Given the description of an element on the screen output the (x, y) to click on. 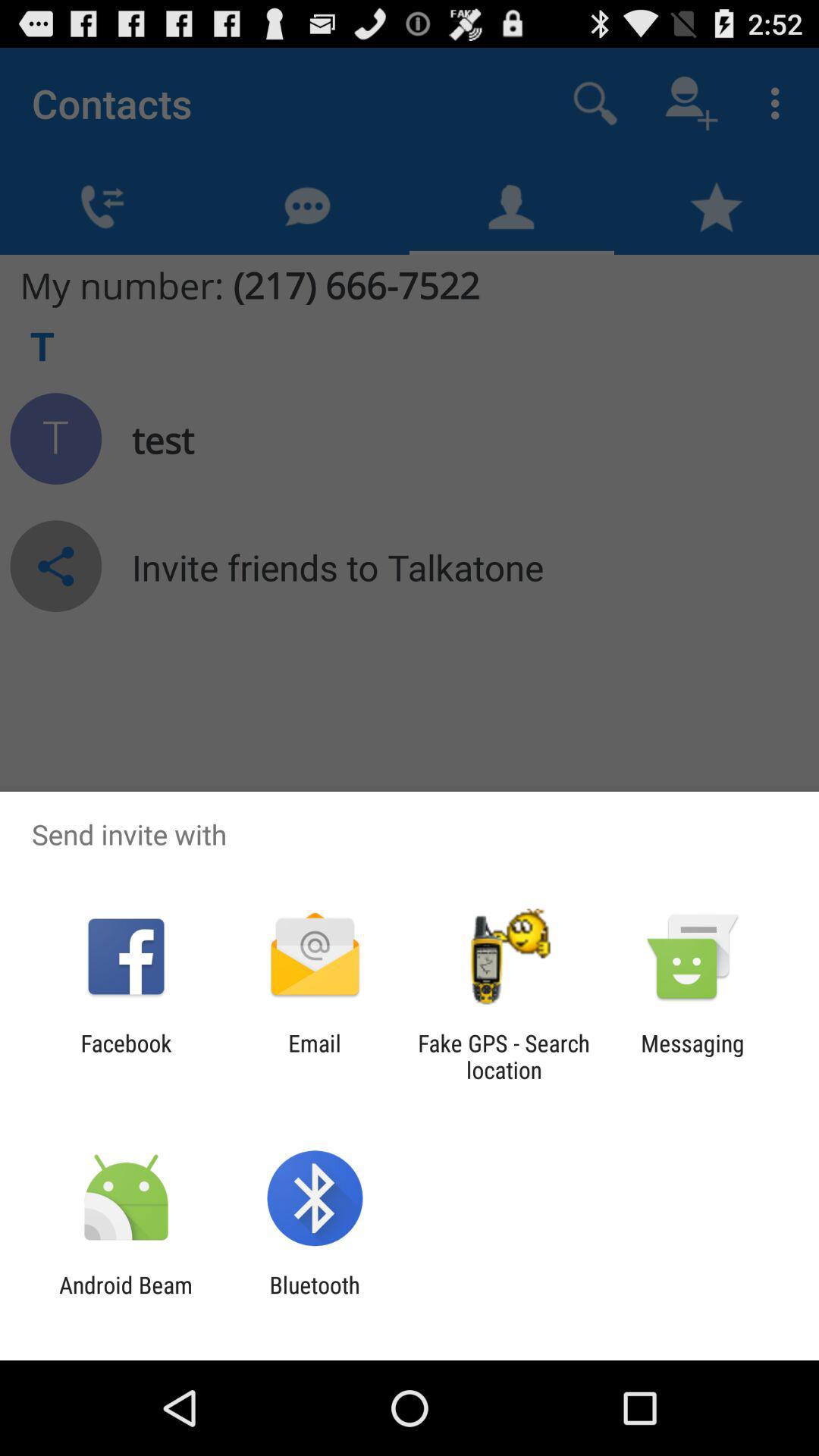
click the item next to the bluetooth icon (125, 1298)
